Given the description of an element on the screen output the (x, y) to click on. 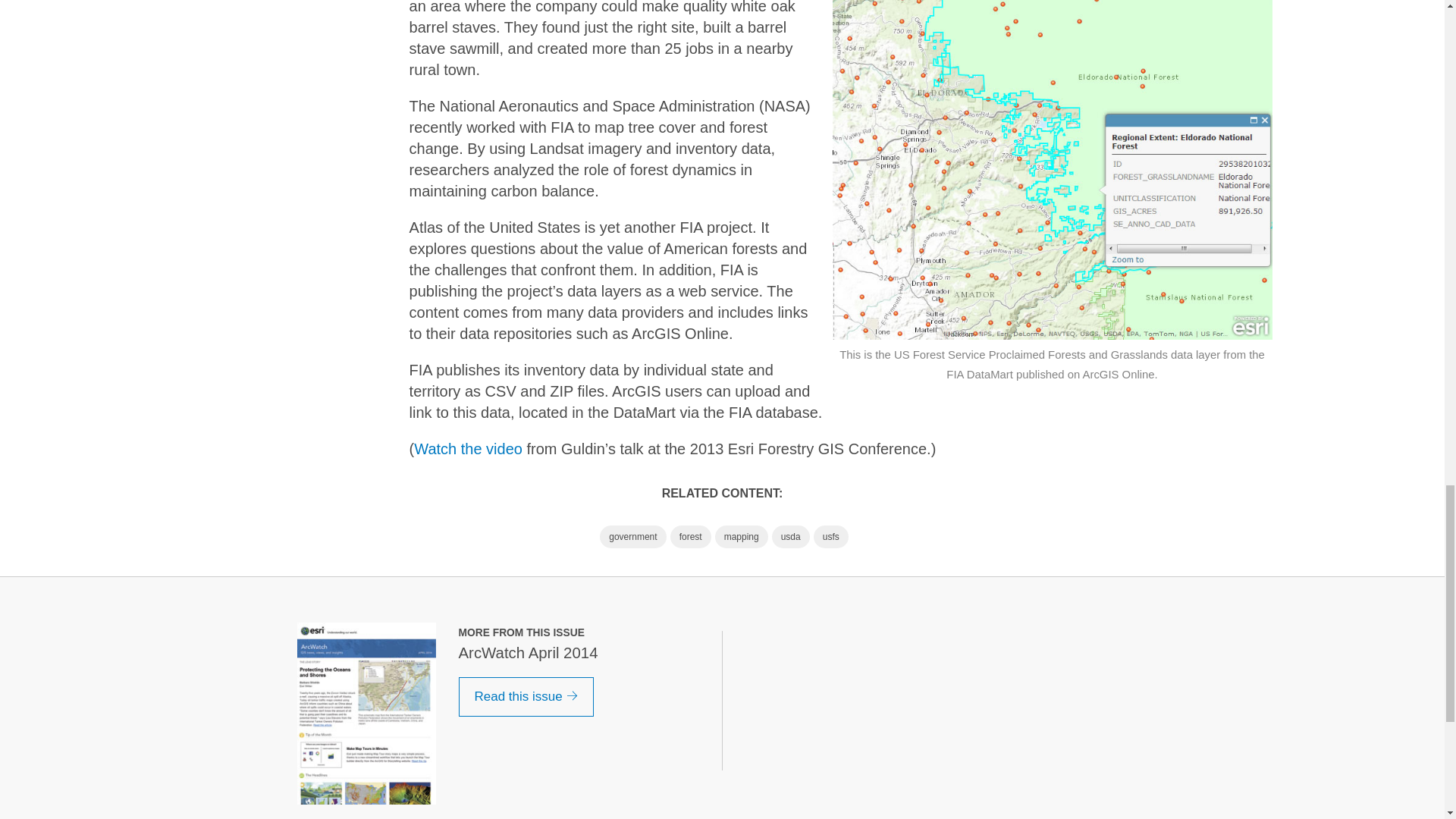
Read this issue (526, 696)
mapping (741, 536)
forest (690, 536)
Watch the video (467, 448)
usda (790, 536)
usfs (830, 536)
government (632, 536)
